Given the description of an element on the screen output the (x, y) to click on. 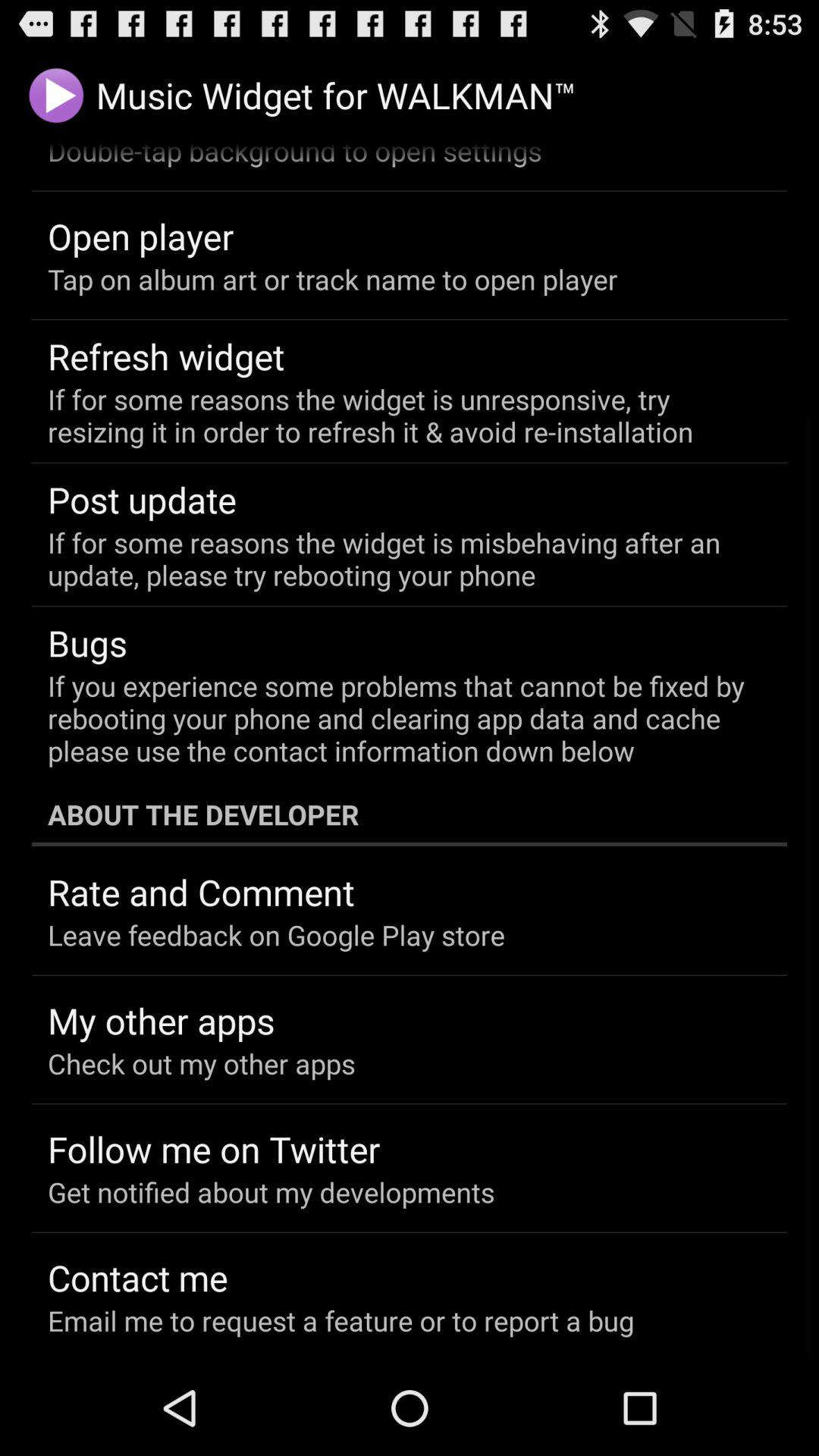
click on play button which is left side of music widget for walkman (56, 95)
